Given the description of an element on the screen output the (x, y) to click on. 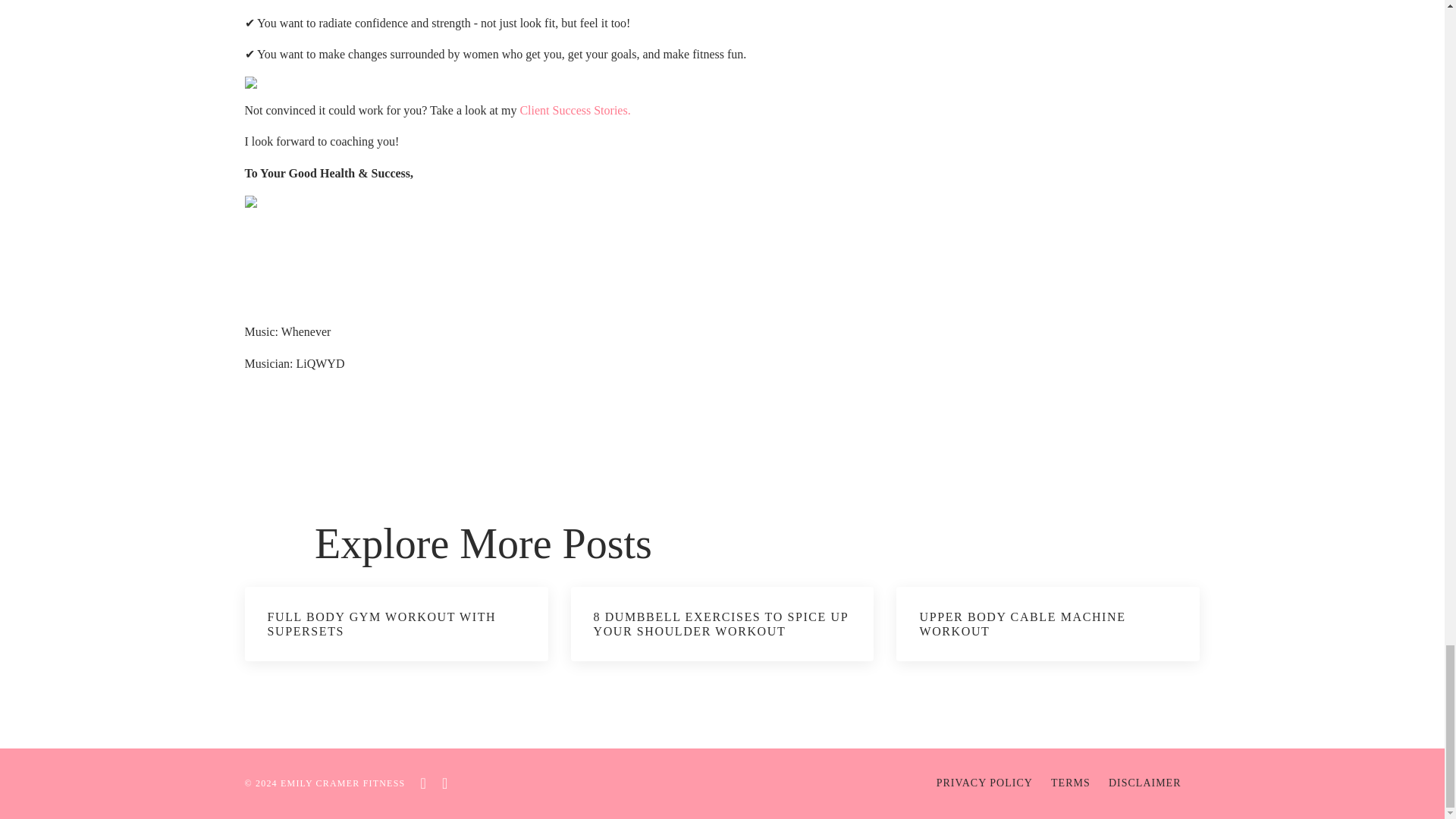
FULL BODY GYM WORKOUT WITH SUPERSETS (396, 623)
PRIVACY POLICY (984, 782)
Apply for 1:1 Coaching (599, 82)
TERMS (1070, 782)
8 DUMBBELL EXERCISES TO SPICE UP YOUR SHOULDER WORKOUT (721, 623)
UPPER BODY CABLE MACHINE WORKOUT (1047, 623)
DISCLAIMER (1144, 782)
Client Success Stories. (574, 110)
Client Success Stories (574, 110)
